Given the description of an element on the screen output the (x, y) to click on. 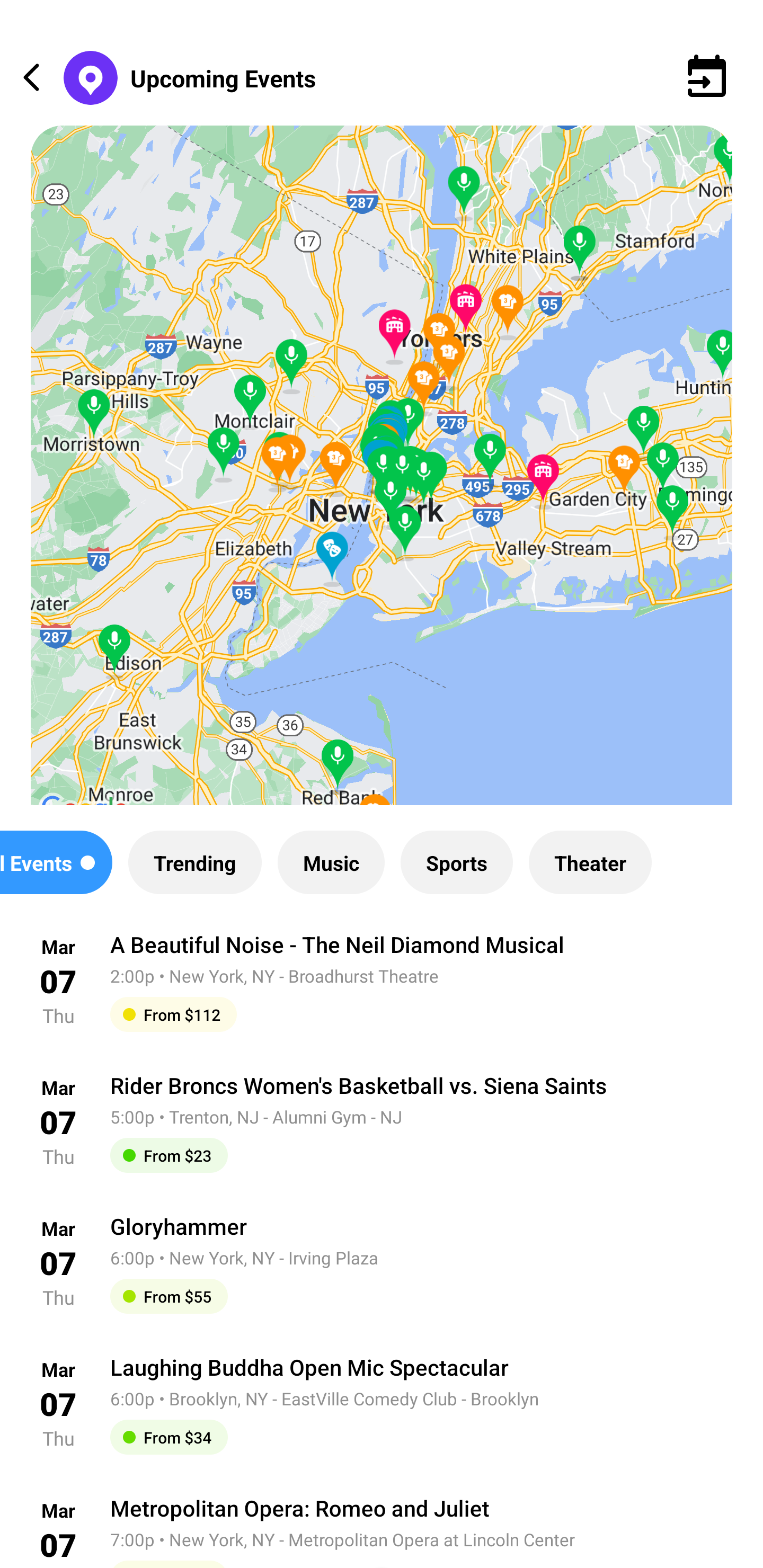
All Events (56, 862)
Trending (194, 862)
Music (330, 862)
Sports (456, 862)
Theater (589, 862)
